Given the description of an element on the screen output the (x, y) to click on. 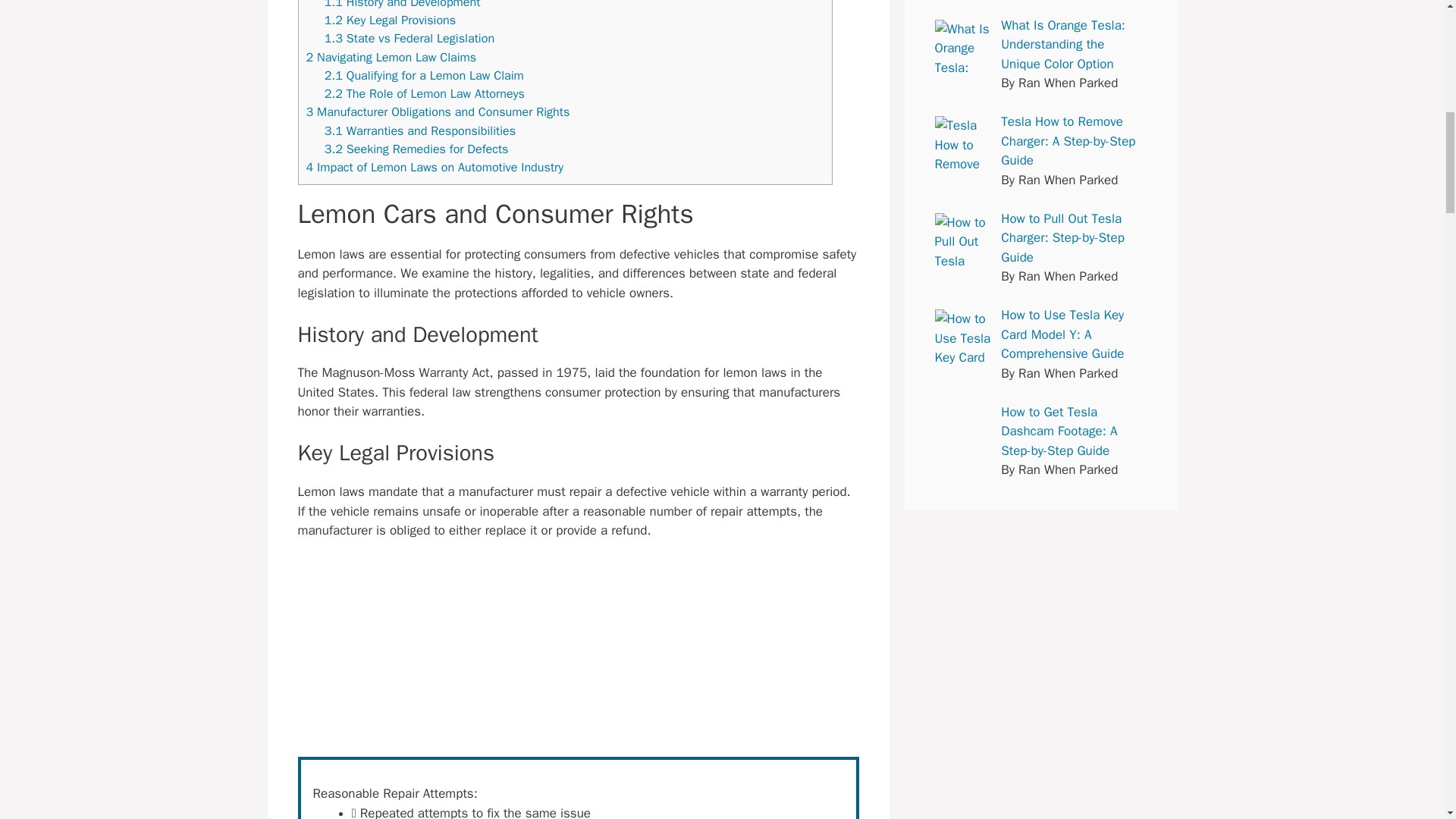
1.3 State vs Federal Legislation (409, 37)
3.1 Warranties and Responsibilities (419, 130)
3 Manufacturer Obligations and Consumer Rights (437, 111)
2.2 The Role of Lemon Law Attorneys (424, 93)
1.2 Key Legal Provisions (389, 19)
2 Navigating Lemon Law Claims (391, 57)
1.1 History and Development (402, 4)
2.1 Qualifying for a Lemon Law Claim (424, 75)
